Given the description of an element on the screen output the (x, y) to click on. 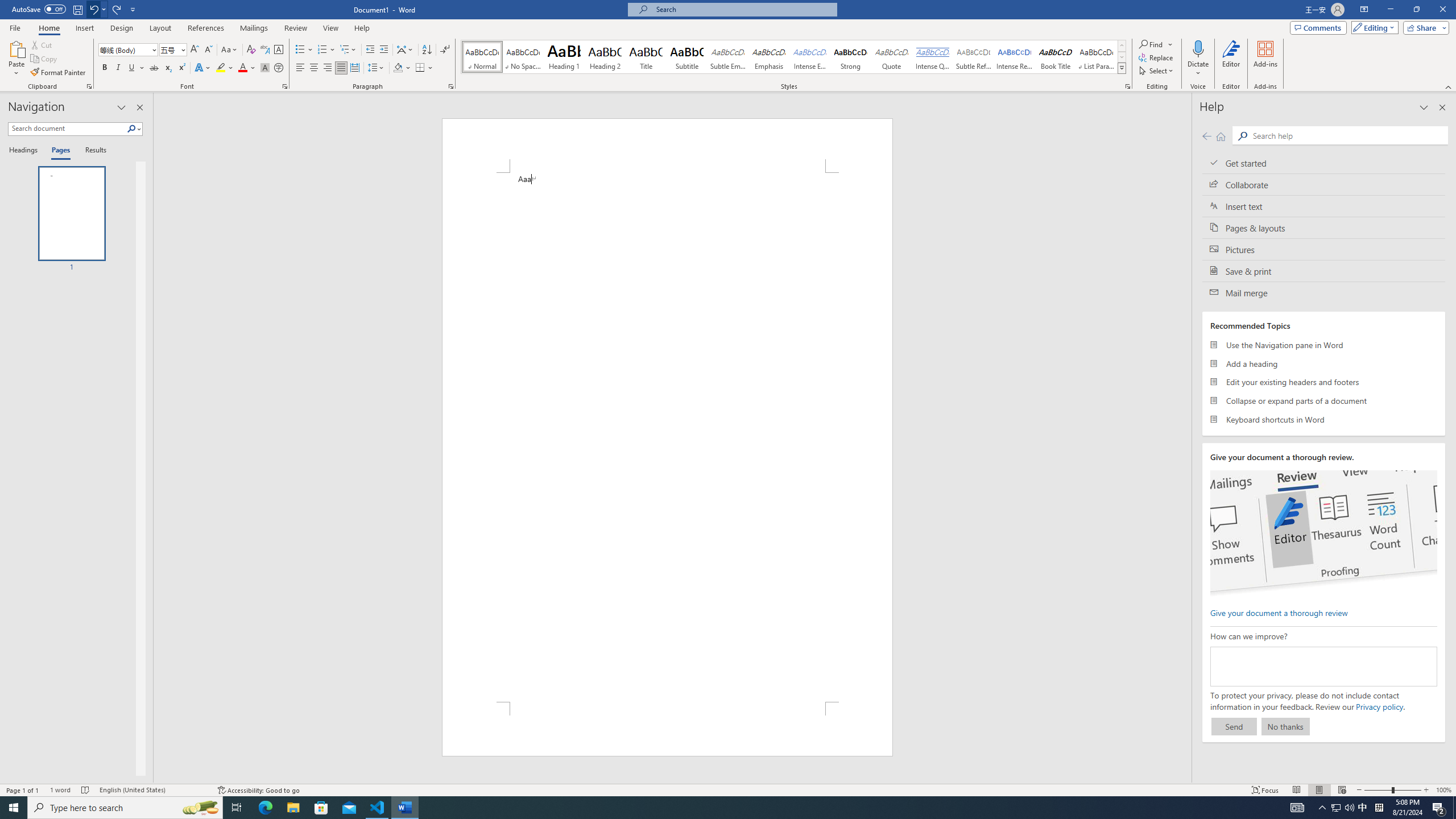
Quote (891, 56)
Subscript (167, 67)
Asian Layout (405, 49)
No thanks (1285, 726)
Decrease Indent (370, 49)
Insert text (1323, 206)
Zoom (1392, 790)
Send (1233, 726)
